Given the description of an element on the screen output the (x, y) to click on. 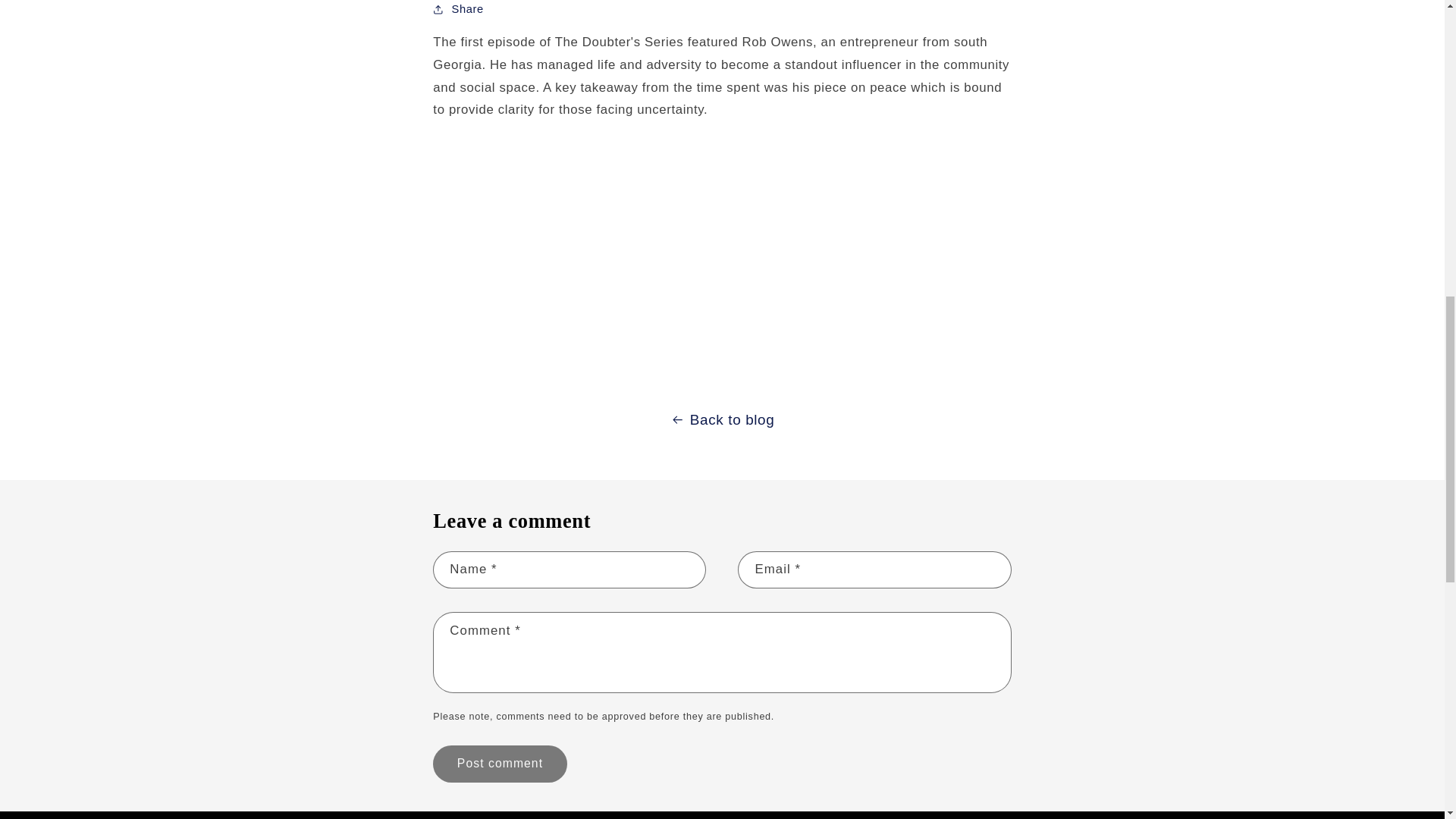
Post comment (499, 763)
Post comment (499, 763)
